Given the description of an element on the screen output the (x, y) to click on. 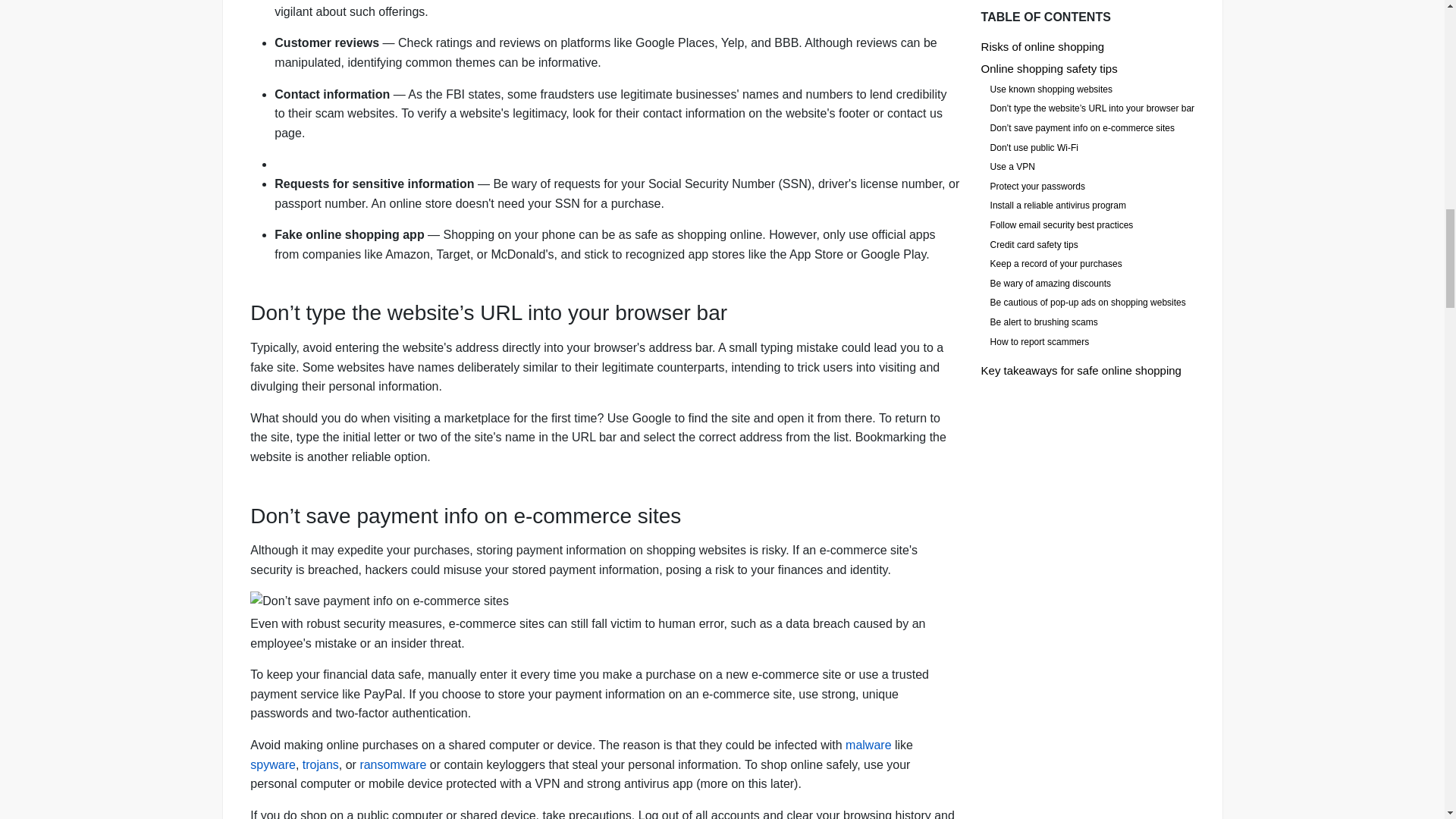
ransomware (392, 764)
malware (868, 744)
trojans (320, 764)
spyware (272, 764)
